Given the description of an element on the screen output the (x, y) to click on. 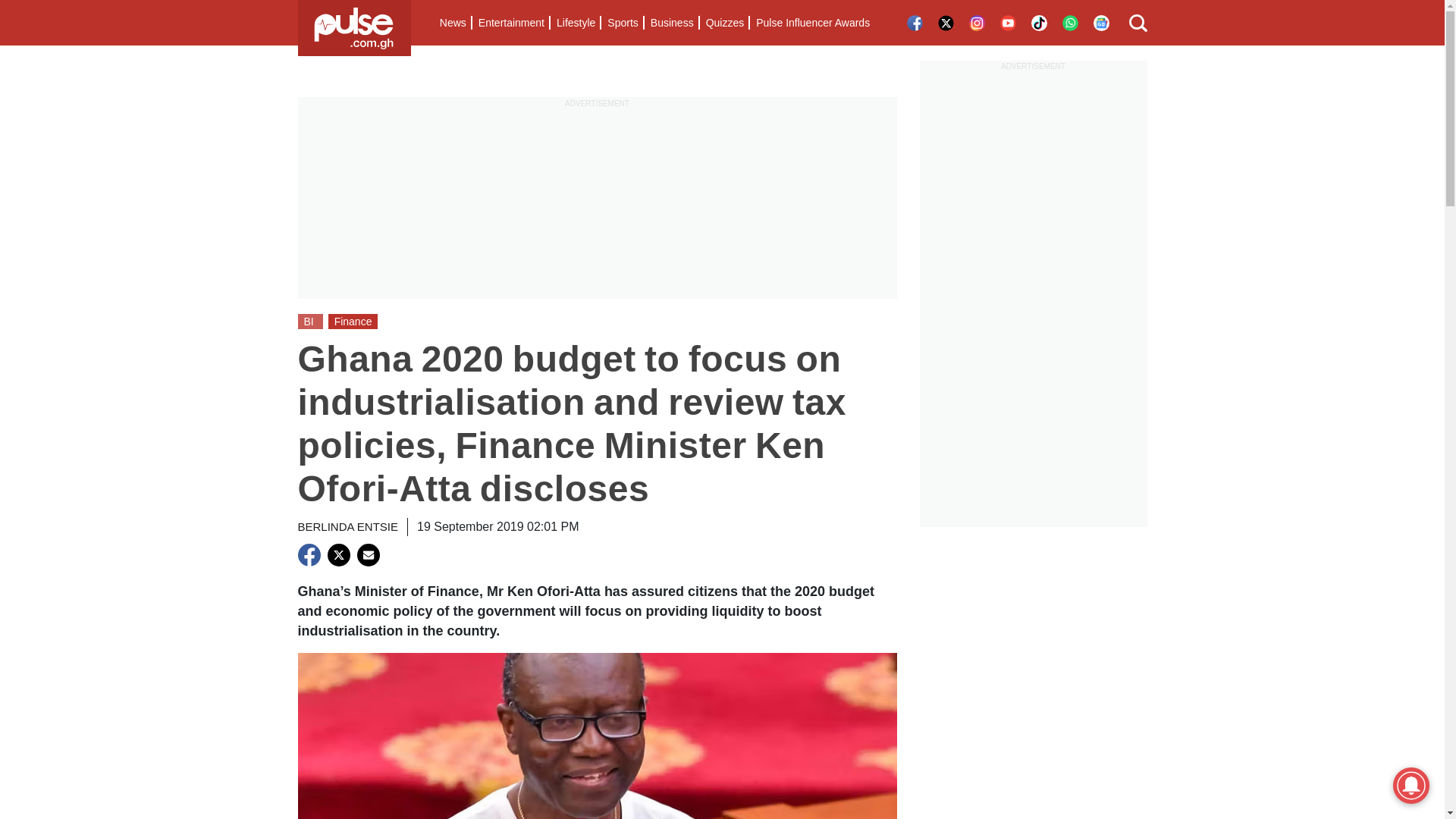
Sports (622, 22)
Lifestyle (575, 22)
Entertainment (510, 22)
Business (672, 22)
